Given the description of an element on the screen output the (x, y) to click on. 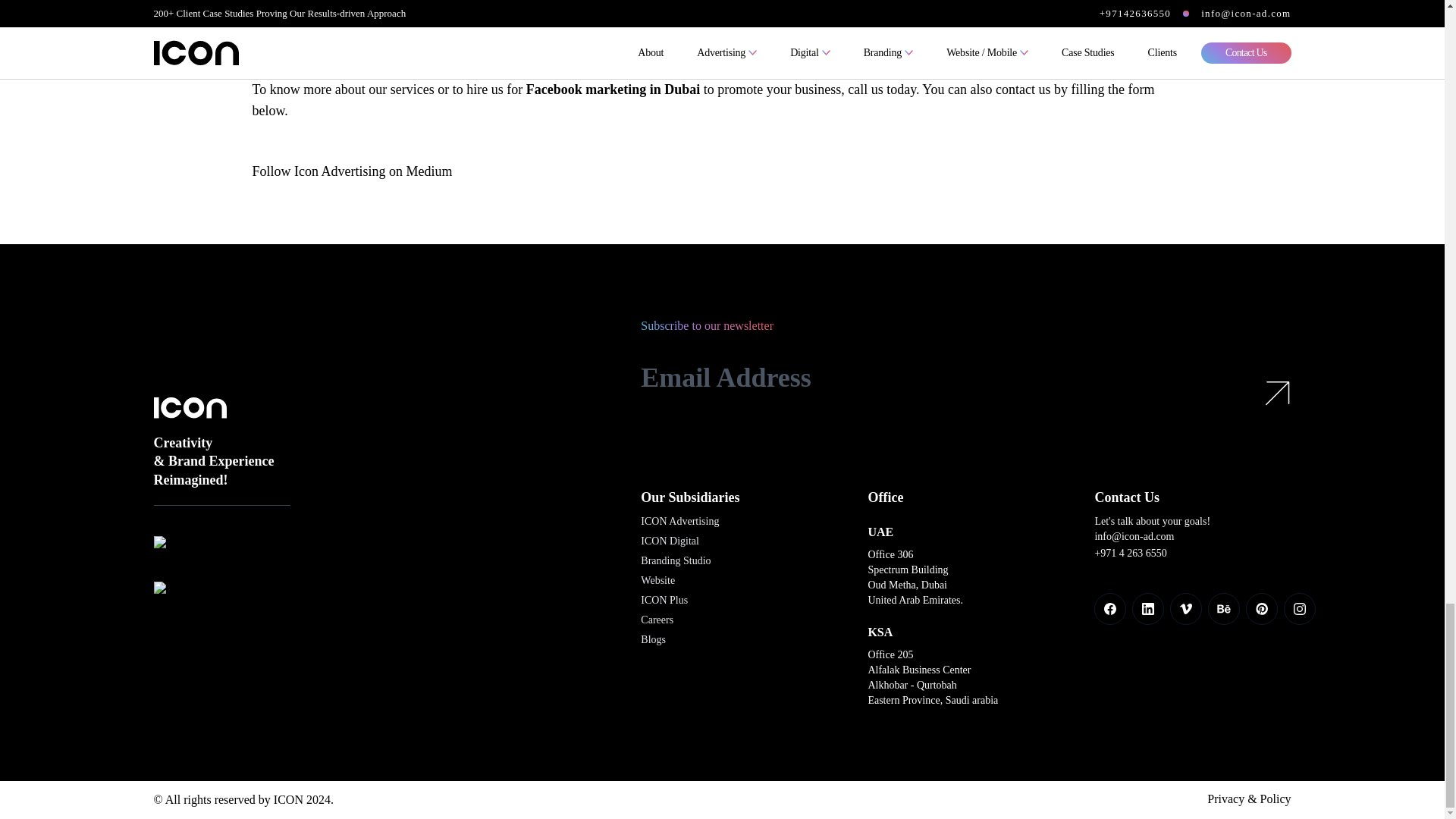
Blogs (652, 640)
Follow Icon Advertising on Medium (351, 171)
ICON Plus (663, 600)
Branding Studio (675, 561)
ICON Advertising (679, 522)
Website (657, 581)
ICON Digital (669, 541)
Careers (656, 620)
